Given the description of an element on the screen output the (x, y) to click on. 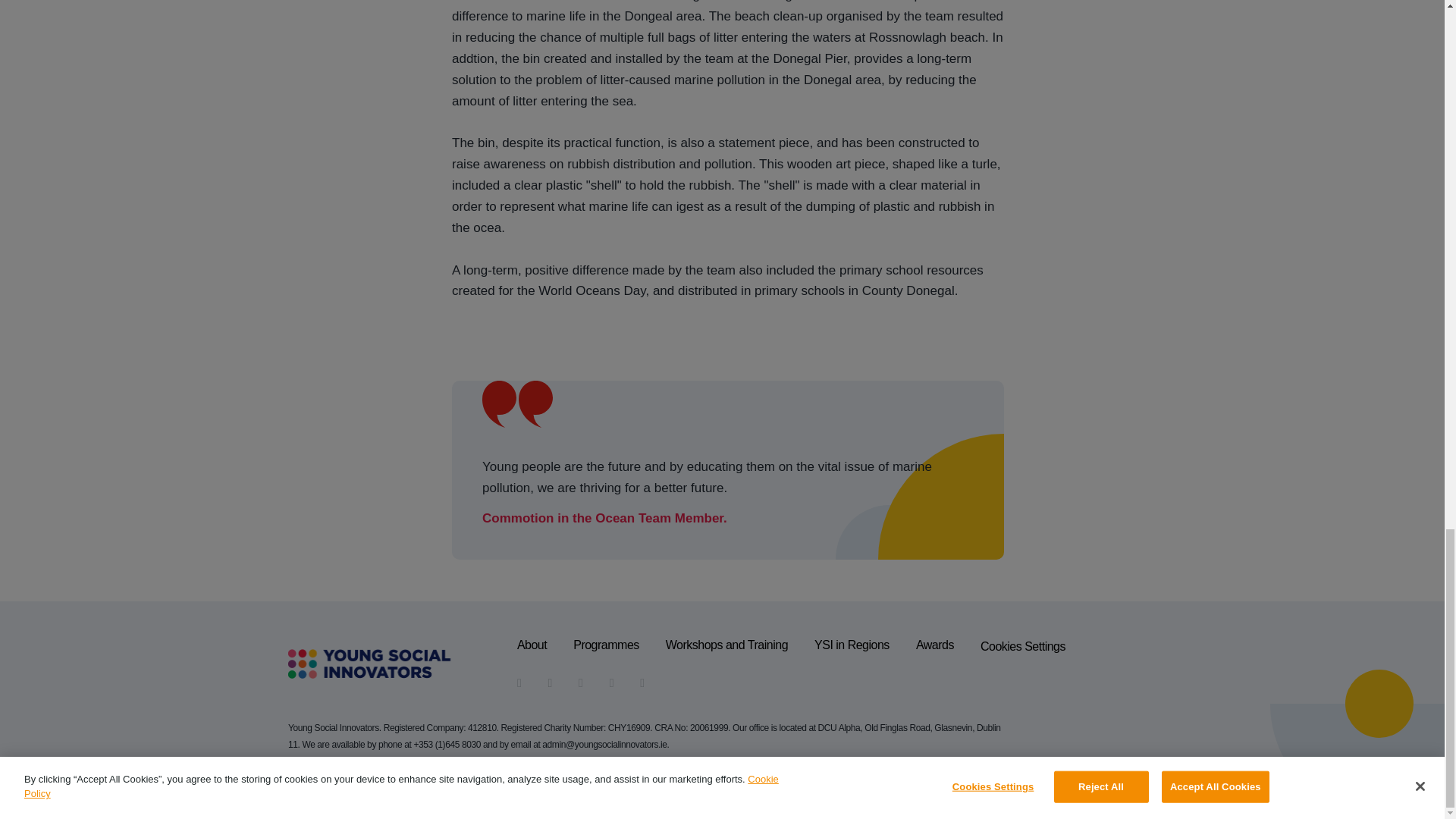
Cookies Settings (1022, 645)
Awards (934, 645)
Programmes (606, 645)
YSI in Regions (851, 645)
About (531, 645)
Workshops and Training (726, 645)
